Given the description of an element on the screen output the (x, y) to click on. 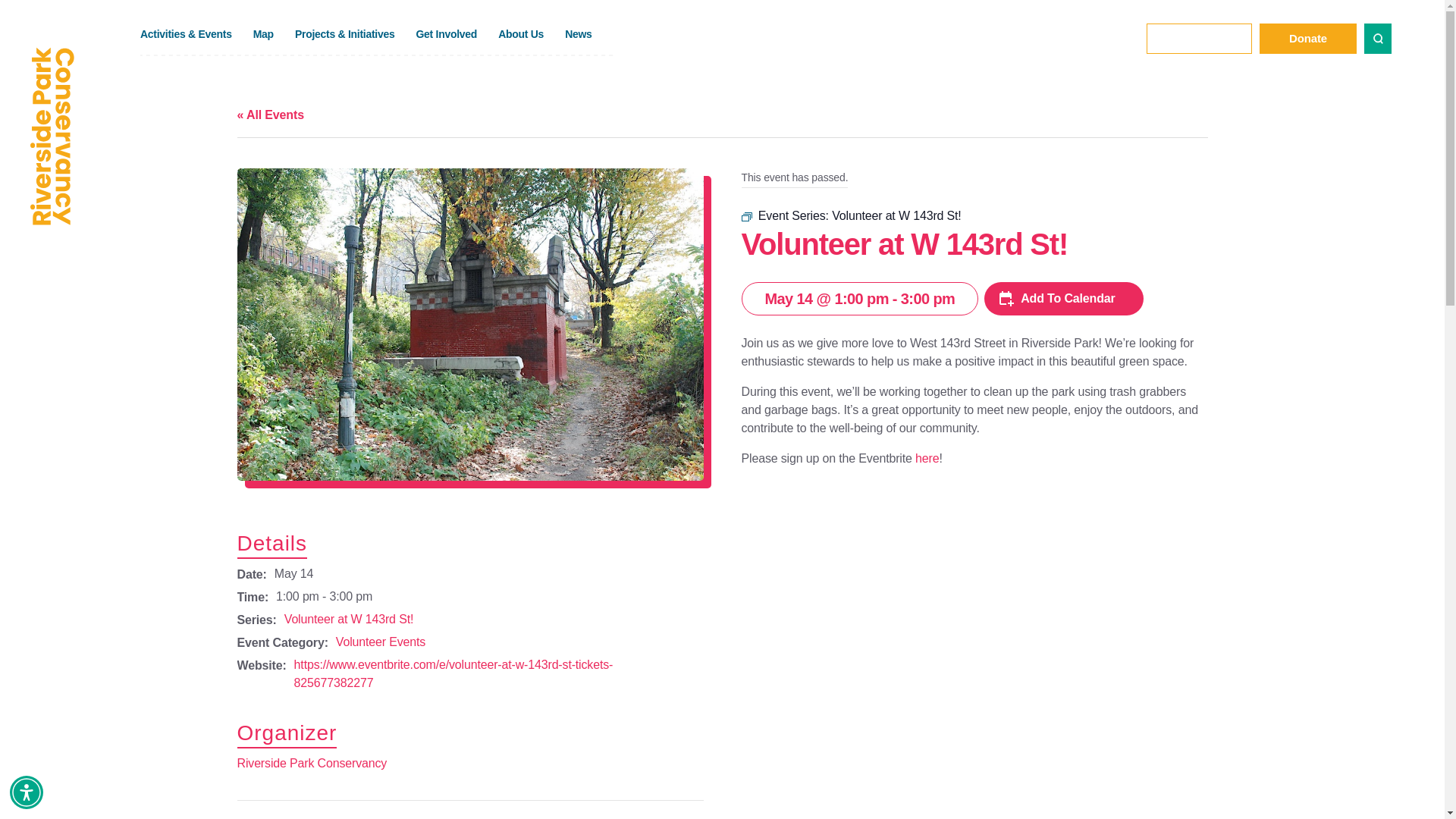
Map (274, 28)
Get Involved (455, 28)
Accessibility Menu (26, 792)
About Us (530, 28)
Map (274, 28)
News (588, 28)
